Given the description of an element on the screen output the (x, y) to click on. 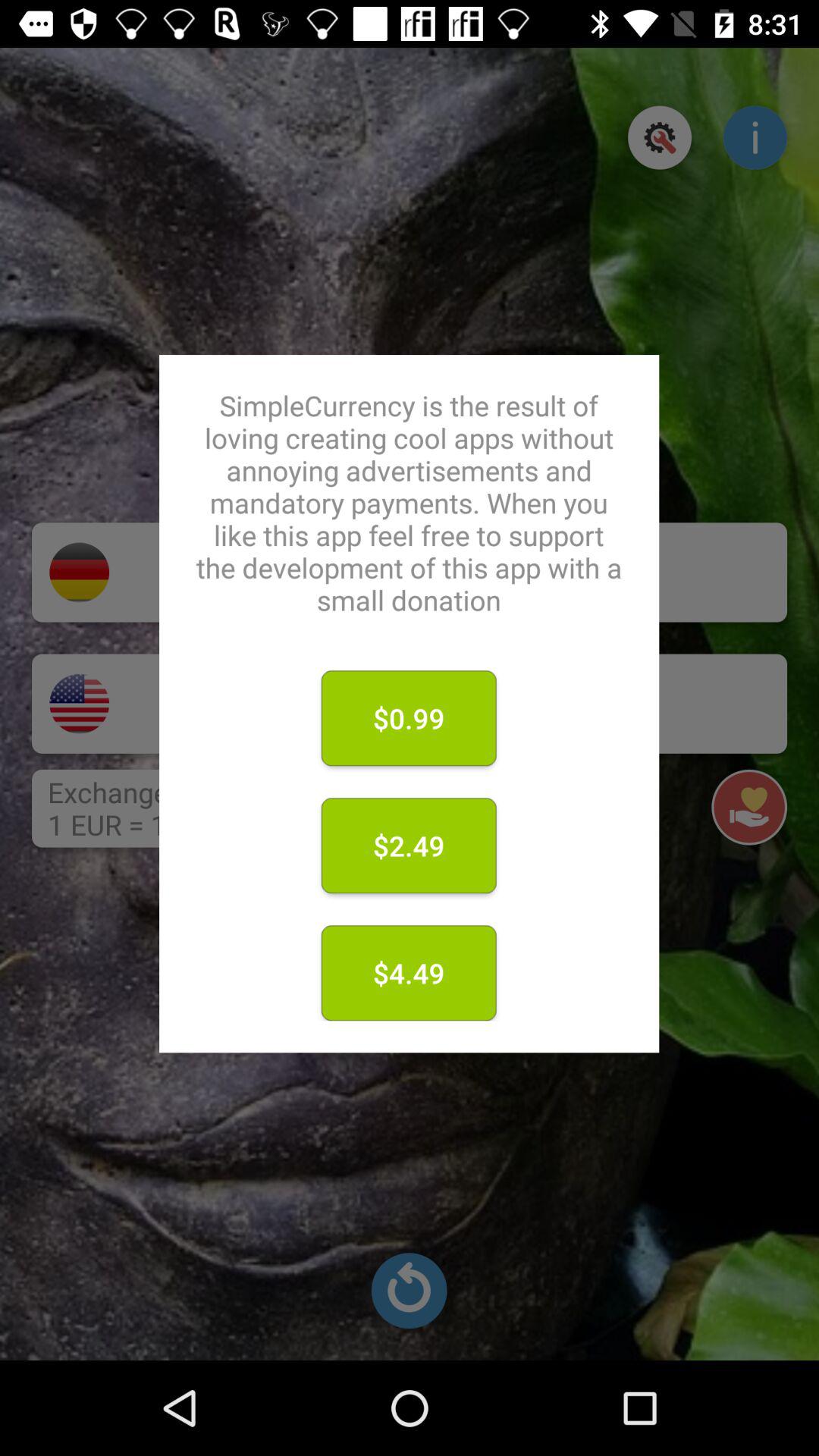
donate 0.99 (443, 703)
